Given the description of an element on the screen output the (x, y) to click on. 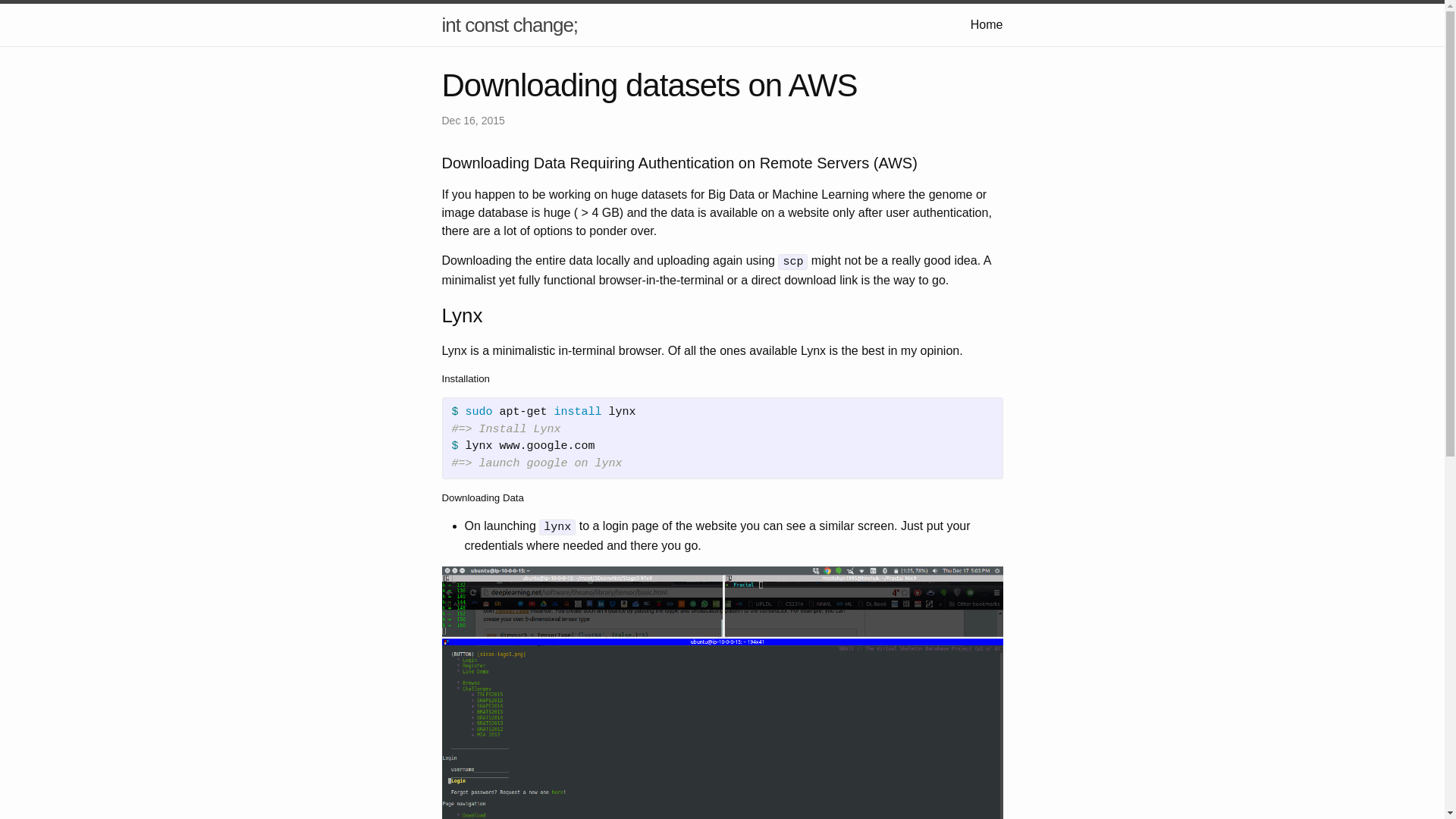
int const change; (509, 24)
Home (987, 24)
